Given the description of an element on the screen output the (x, y) to click on. 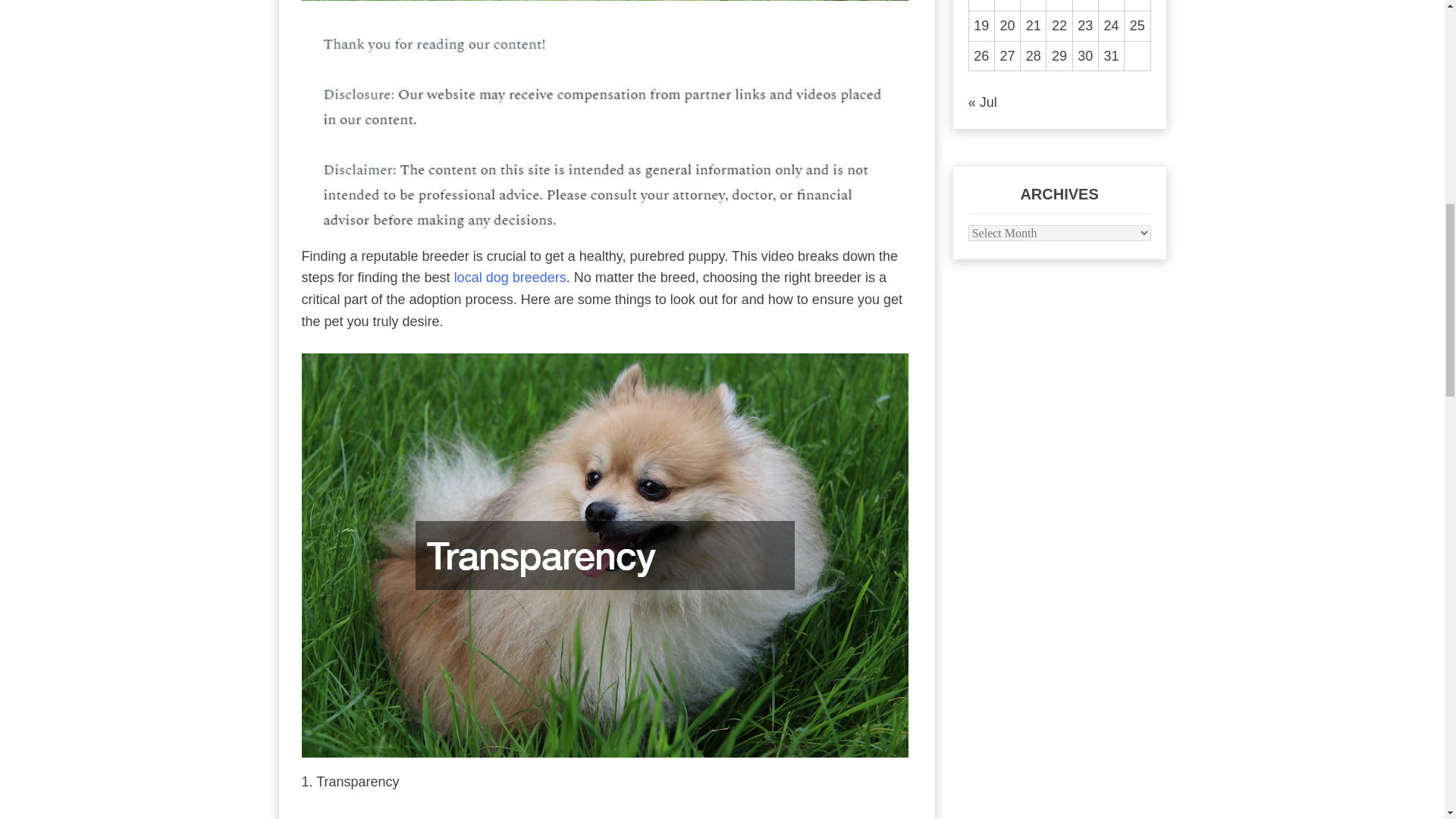
local dog breeders (510, 277)
